Given the description of an element on the screen output the (x, y) to click on. 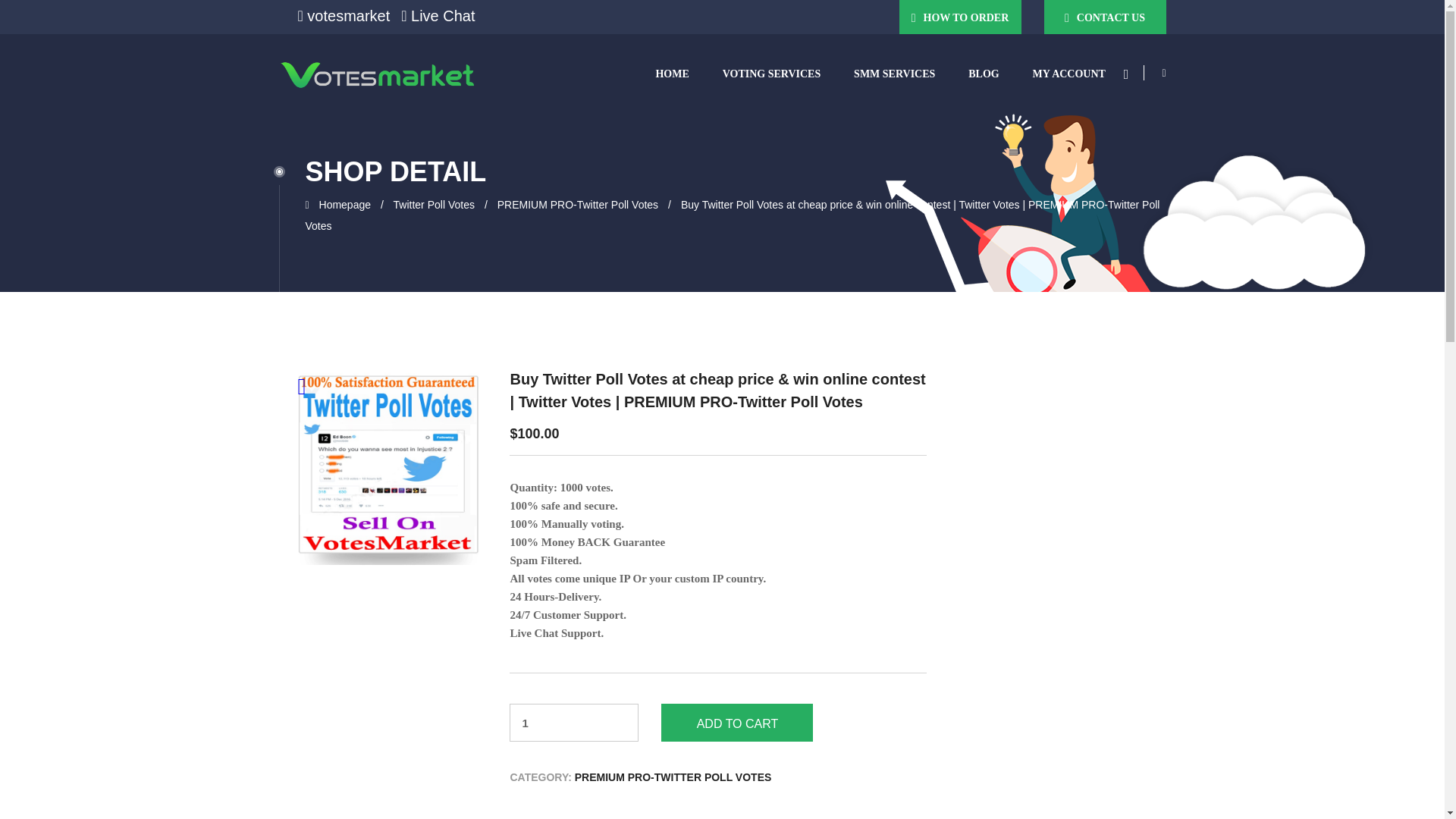
SMM SERVICES (894, 74)
 votesmarket (343, 15)
ADD TO CART (736, 722)
MY ACCOUNT (1069, 74)
CONTACT US (1104, 17)
HOW TO ORDER (960, 17)
1 (574, 722)
Homepage (344, 204)
Buy-Twitter-Poll-Votes (387, 466)
PREMIUM PRO-TWITTER POLL VOTES (673, 776)
